Given the description of an element on the screen output the (x, y) to click on. 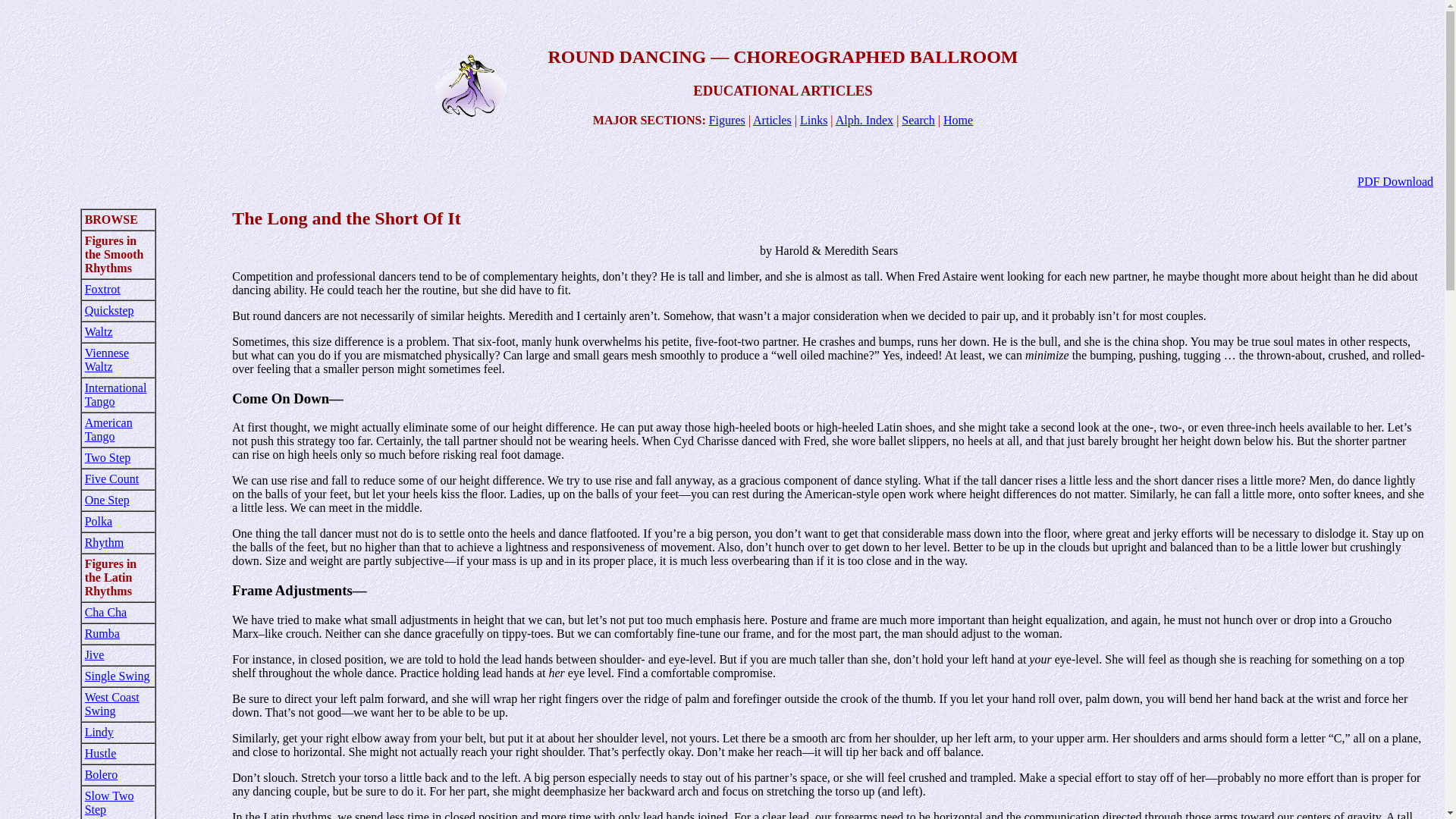
Jive (94, 654)
International Tango (115, 394)
Search (917, 119)
PDF Download (1394, 181)
Bolero (100, 774)
West Coast Swing (111, 704)
Foxtrot (102, 288)
One Step (106, 499)
Steps and Figures used in each Rhythm (727, 119)
Slow Two Step (108, 802)
Single Swing (116, 675)
Dance Home (957, 119)
Rumba (101, 633)
Home (957, 119)
Quickstep (108, 309)
